Given the description of an element on the screen output the (x, y) to click on. 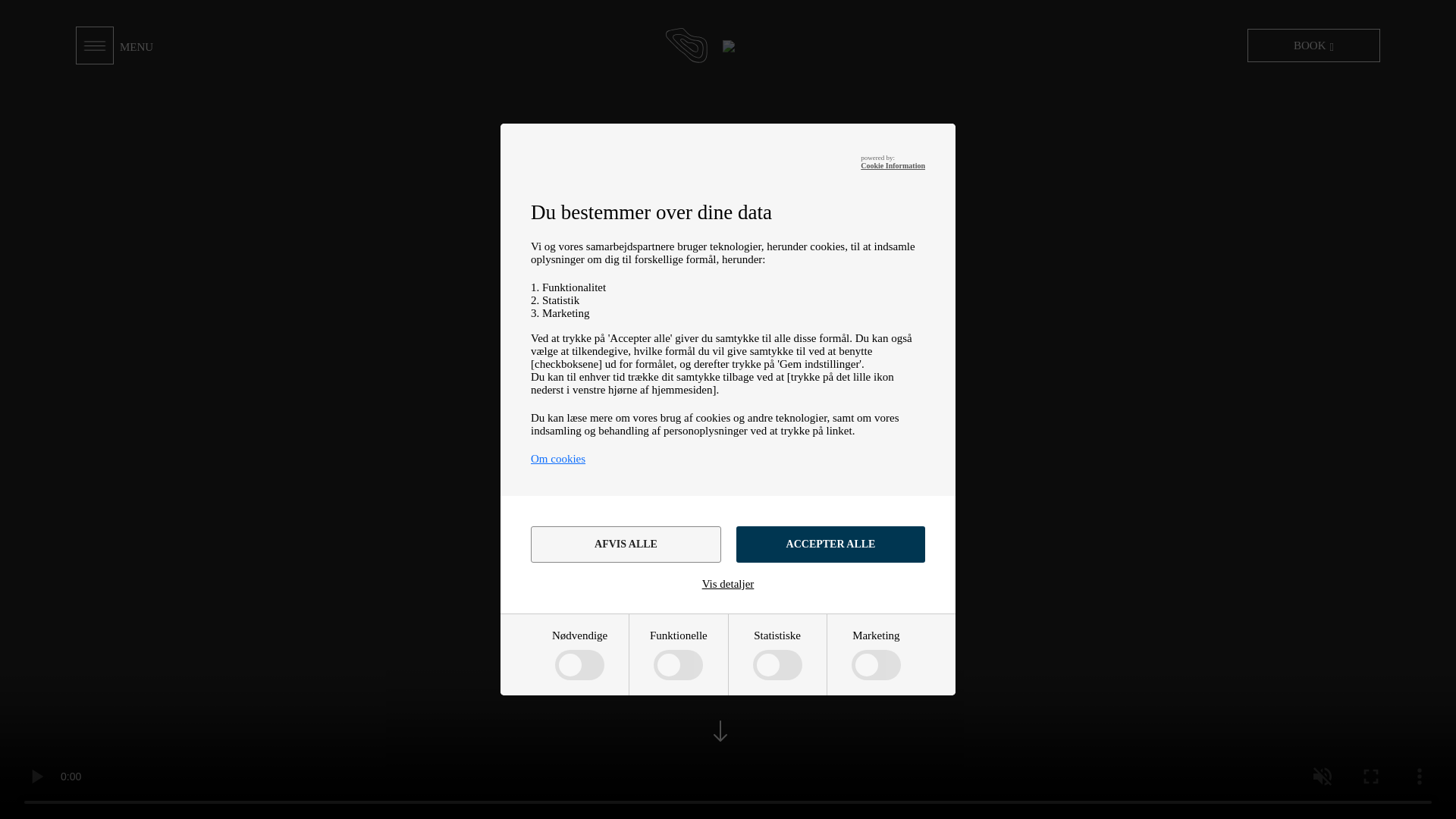
Vis detaljer (727, 584)
Om cookies (558, 458)
ACCEPTER ALLE (830, 544)
AFVIS ALLE (625, 544)
Cookie Information (892, 165)
